Given the description of an element on the screen output the (x, y) to click on. 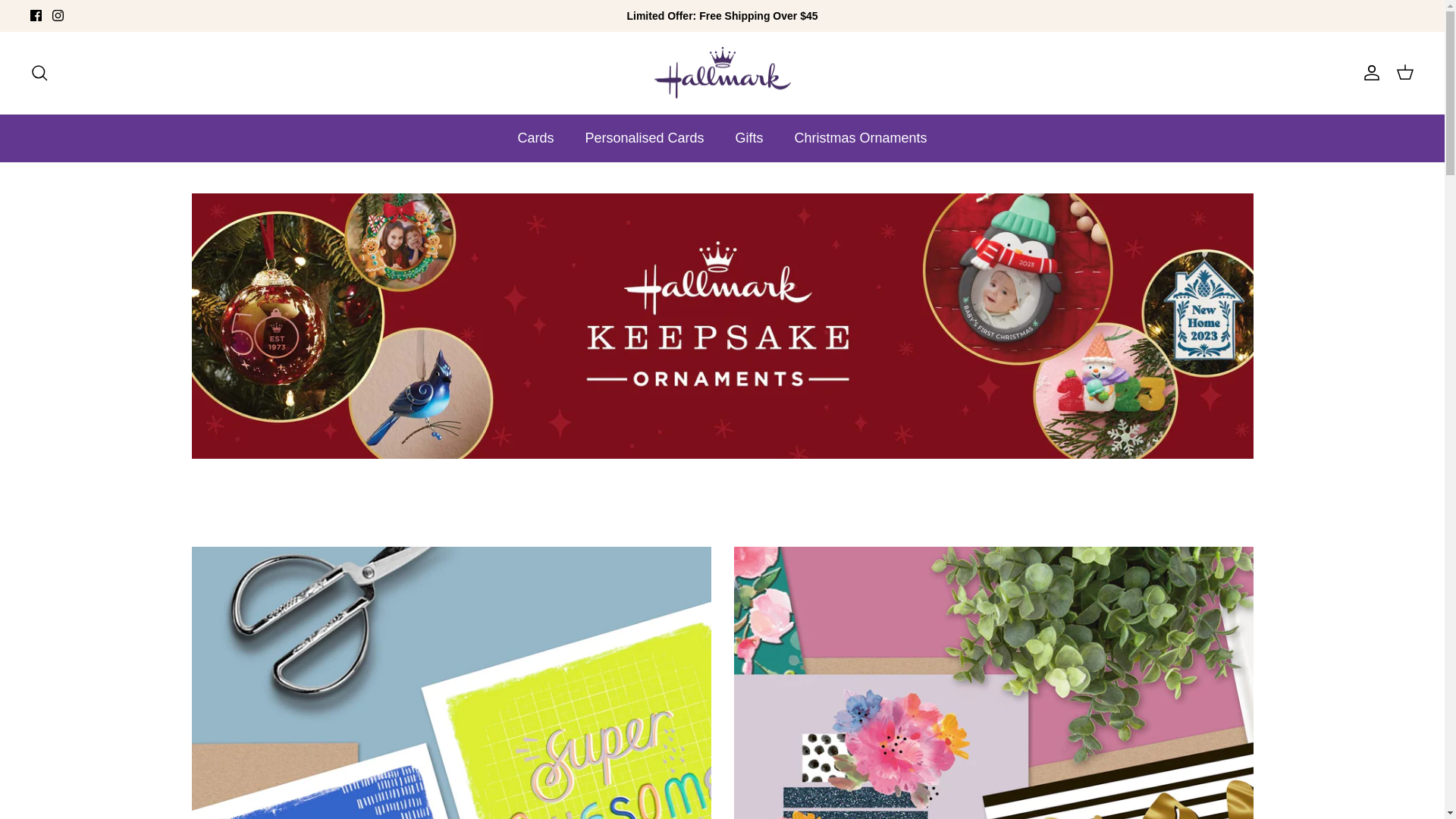
Christmas Ornaments Element type: text (861, 138)
Search Element type: text (39, 72)
Gifts Element type: text (749, 138)
Facebook Element type: text (35, 15)
Personalised Cards Element type: text (644, 138)
Instagram Element type: text (57, 15)
Cards Element type: text (535, 138)
Hallmark Australia Element type: hover (721, 73)
Account Element type: text (1368, 72)
Cart Element type: text (1405, 72)
